Given the description of an element on the screen output the (x, y) to click on. 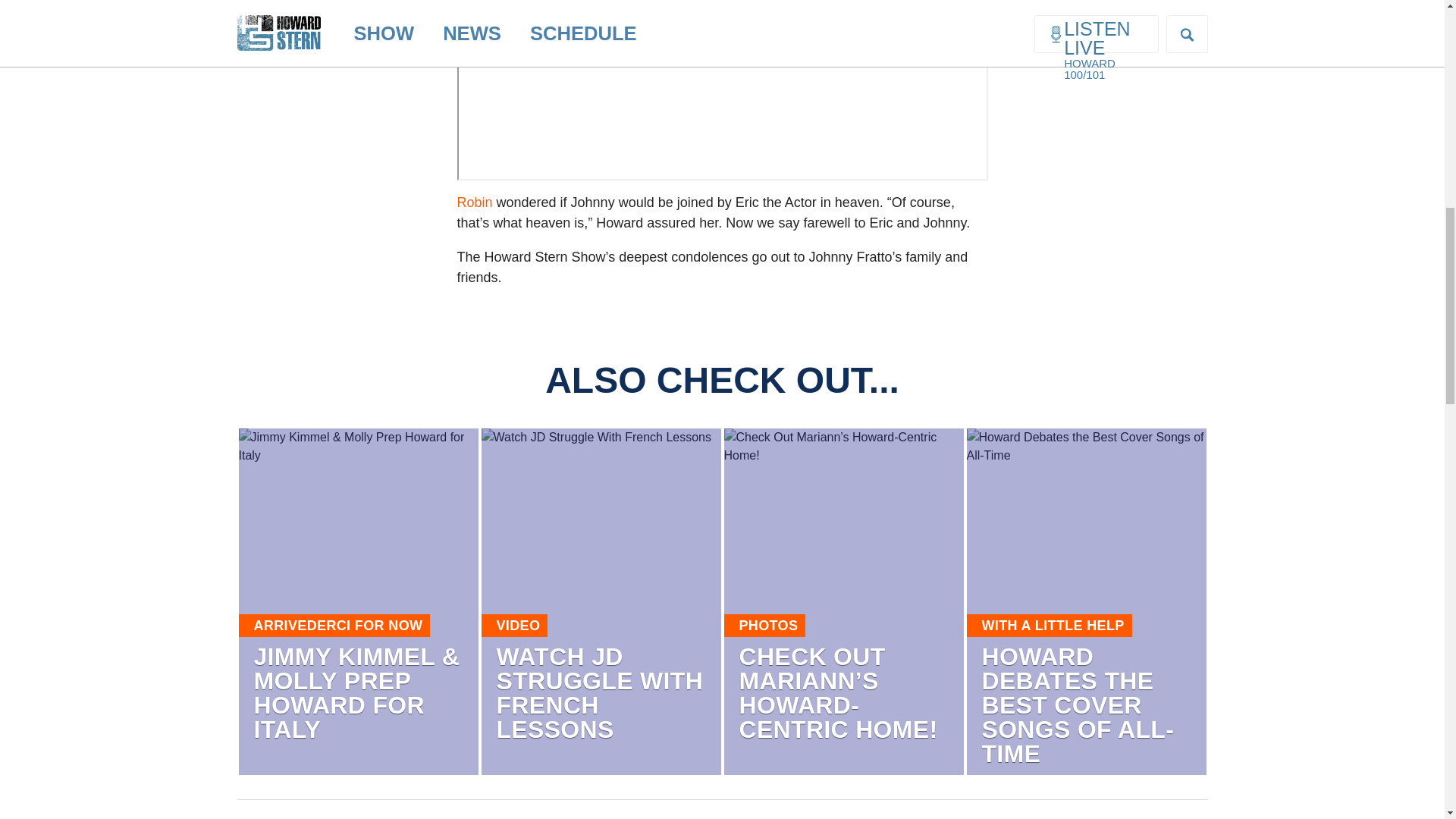
Robin (474, 201)
HOWARD DEBATES THE BEST COVER SONGS OF ALL-TIME (1077, 704)
WATCH JD STRUGGLE WITH FRENCH LESSONS (599, 692)
